Given the description of an element on the screen output the (x, y) to click on. 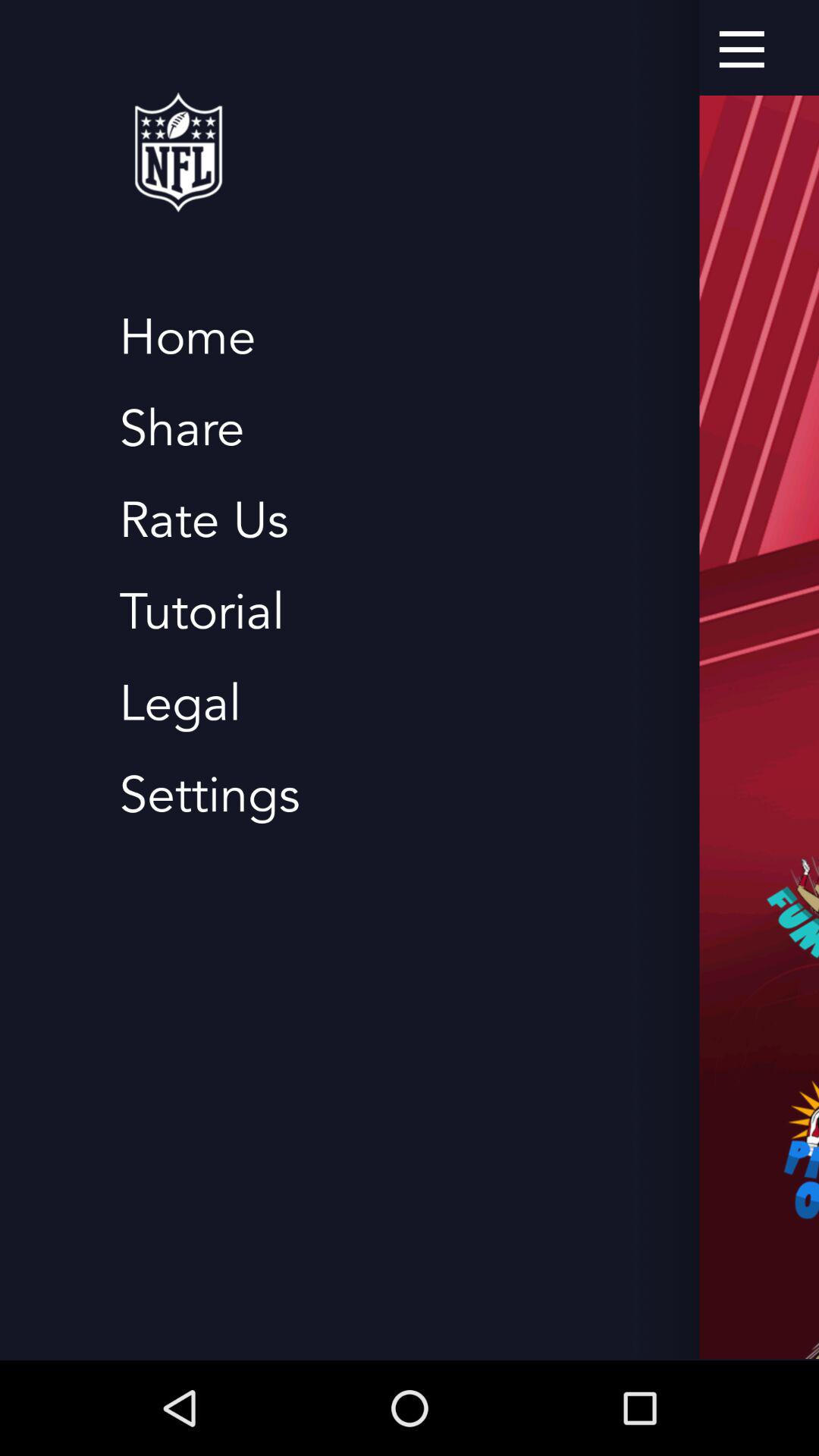
press item below legal icon (209, 795)
